Given the description of an element on the screen output the (x, y) to click on. 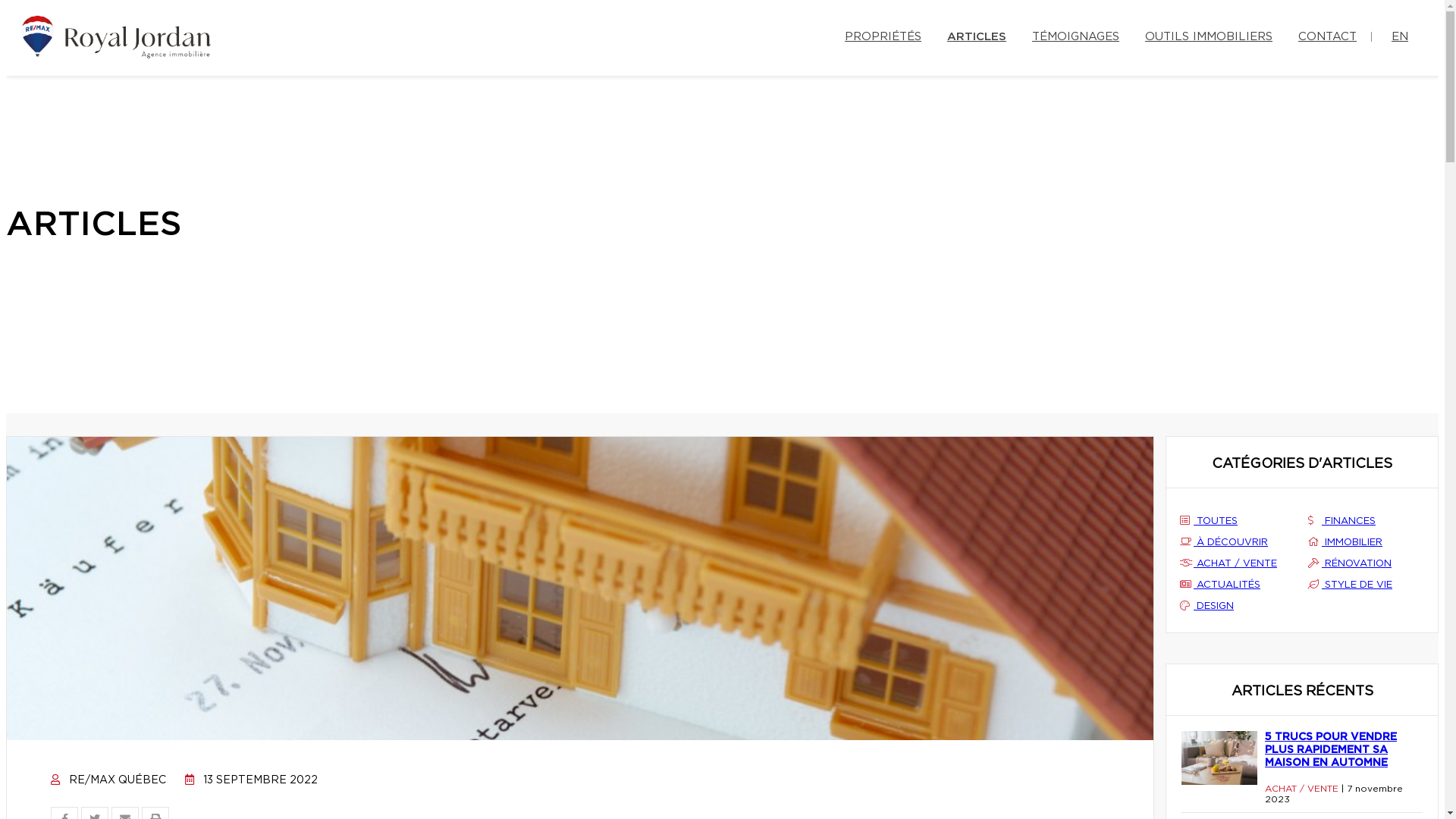
5 TRUCS POUR VENDRE PLUS RAPIDEMENT SA MAISON EN AUTOMNE Element type: text (1342, 750)
ARTICLES Element type: text (976, 35)
DESIGN Element type: text (1237, 606)
OUTILS IMMOBILIERS Element type: text (1208, 35)
STYLE DE VIE Element type: text (1366, 585)
ACHAT / VENTE Element type: text (1237, 564)
CONTACT Element type: text (1327, 35)
EN Element type: text (1399, 35)
TOUTES Element type: text (1237, 521)
FINANCES Element type: text (1366, 521)
IMMOBILIER Element type: text (1366, 542)
